Given the description of an element on the screen output the (x, y) to click on. 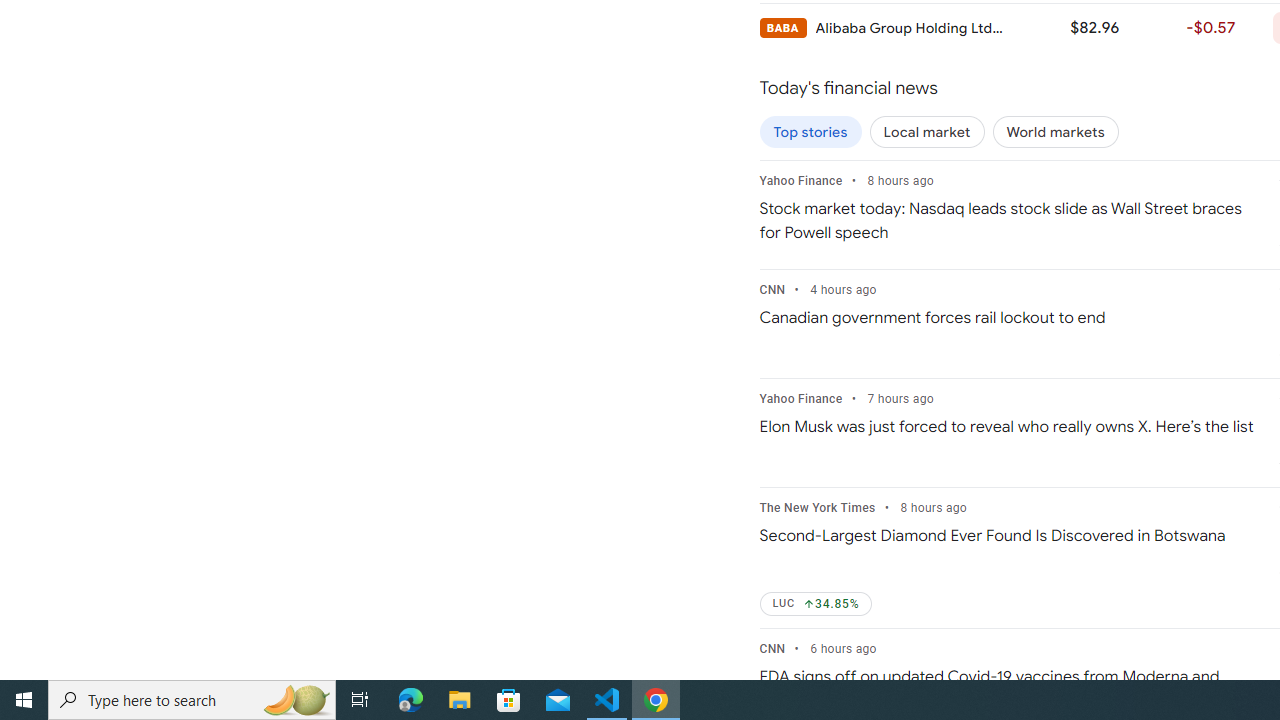
LUC Up by 34.85% (815, 603)
Top stories (810, 131)
Local market (927, 131)
World markets (1055, 131)
